Given the description of an element on the screen output the (x, y) to click on. 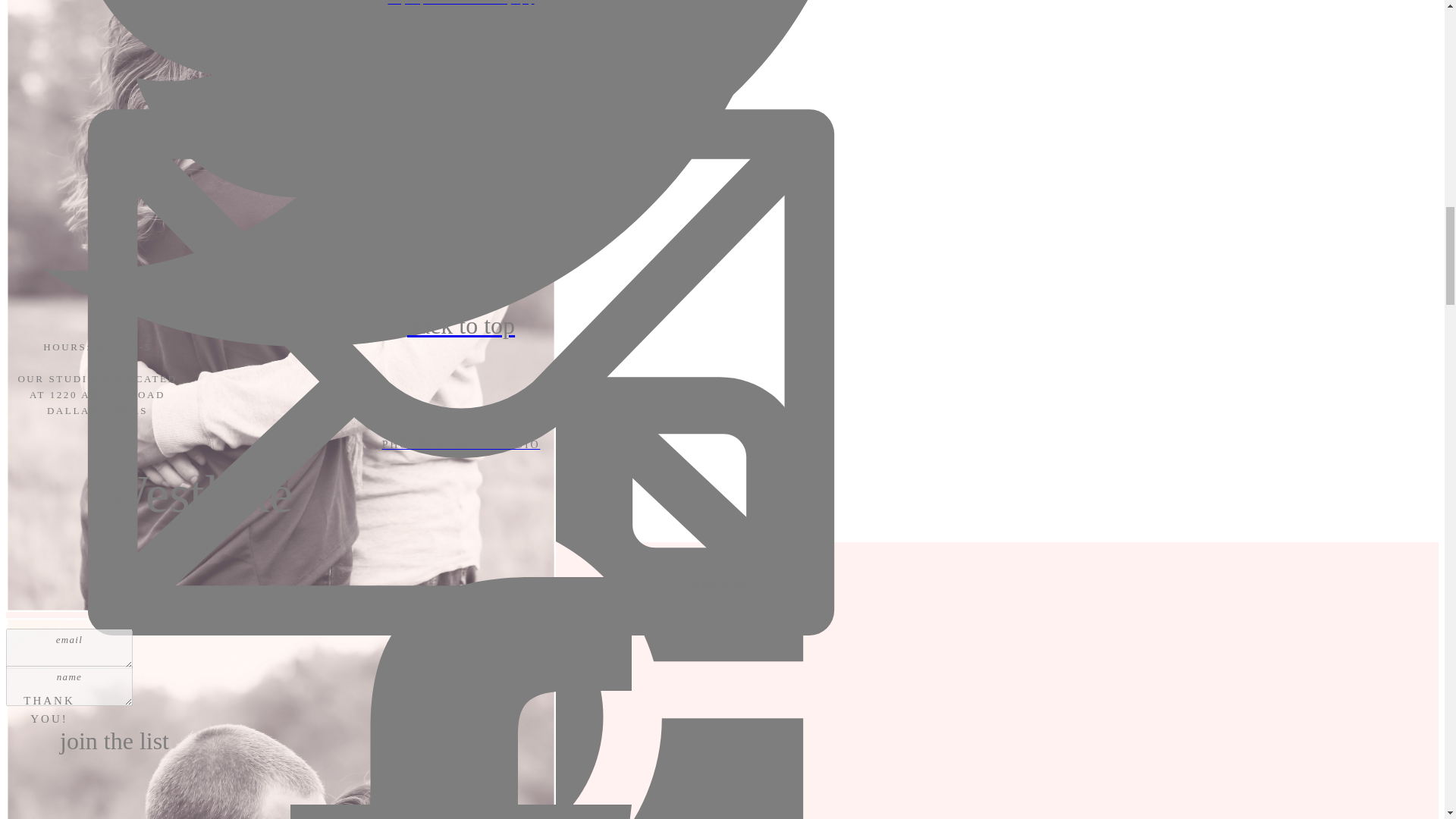
back to top (460, 325)
PHOTOGRAPHY STUDIO (460, 445)
